Given the description of an element on the screen output the (x, y) to click on. 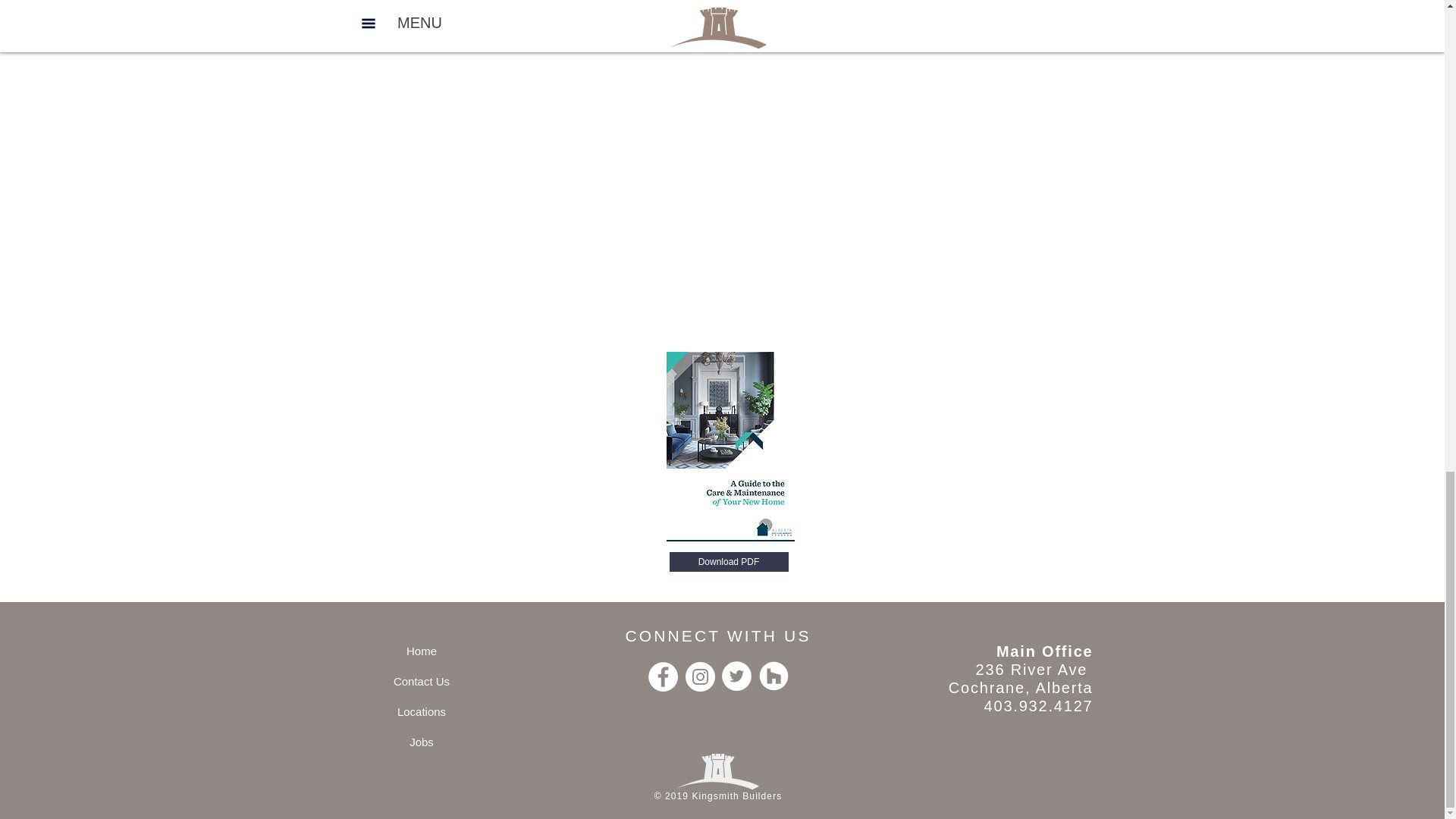
Jobs (421, 741)
Locations (421, 711)
Download PDF (727, 561)
Home (421, 650)
Contact Us (421, 680)
